Given the description of an element on the screen output the (x, y) to click on. 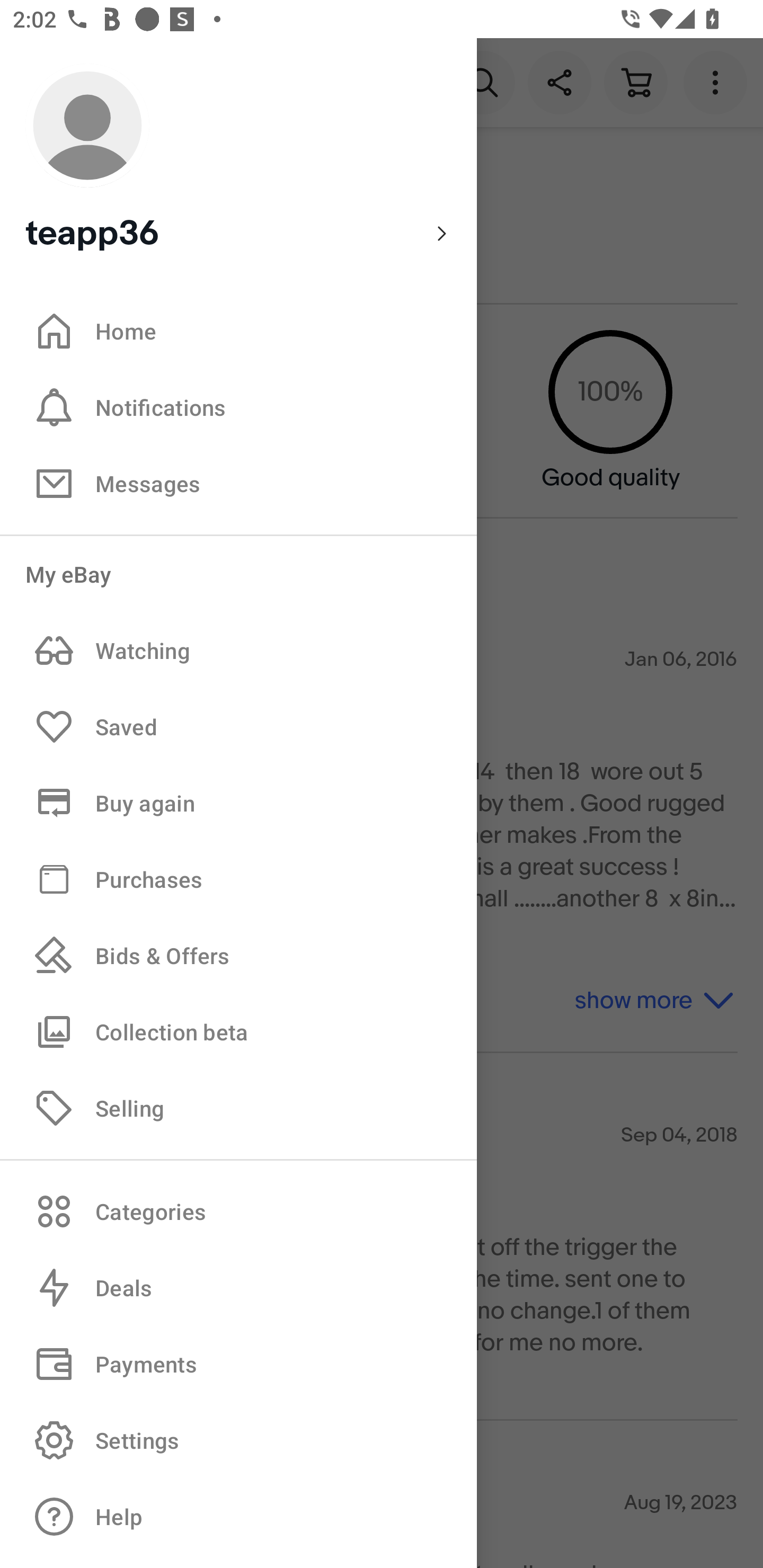
teapp36 (238, 158)
Home (238, 330)
Notifications (238, 406)
Messages (238, 483)
Watching (238, 650)
Saved (238, 726)
Buy again (238, 802)
Purchases (238, 878)
Bids & Offers (238, 955)
Collection beta (238, 1031)
Selling (238, 1107)
Categories (238, 1210)
Deals (238, 1287)
Payments (238, 1363)
Settings (238, 1439)
Help (238, 1516)
